Given the description of an element on the screen output the (x, y) to click on. 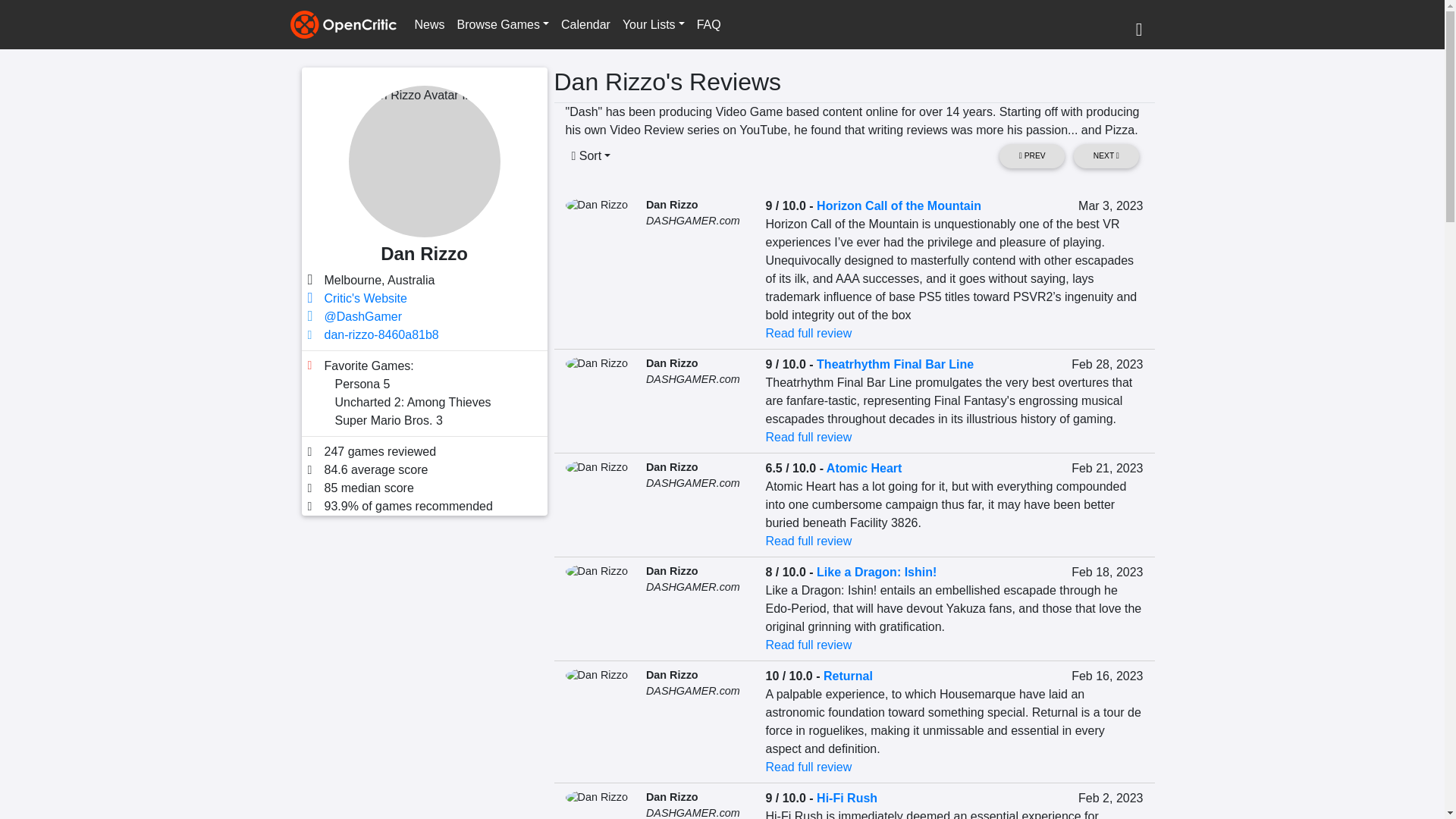
Horizon Call of the Mountain (898, 205)
FAQ (708, 24)
DASHGAMER.com (692, 220)
Read full review (808, 436)
dan-rizzo-8460a81b8 (381, 334)
Dan Rizzo (672, 204)
NEXT (1106, 155)
News (428, 24)
Calendar (584, 24)
Your Lists (652, 24)
Read full review (808, 332)
DASHGAMER.com (692, 378)
Dan Rizzo (672, 363)
Theatrhythm Final Bar Line (895, 364)
Critic's Website (365, 297)
